Given the description of an element on the screen output the (x, y) to click on. 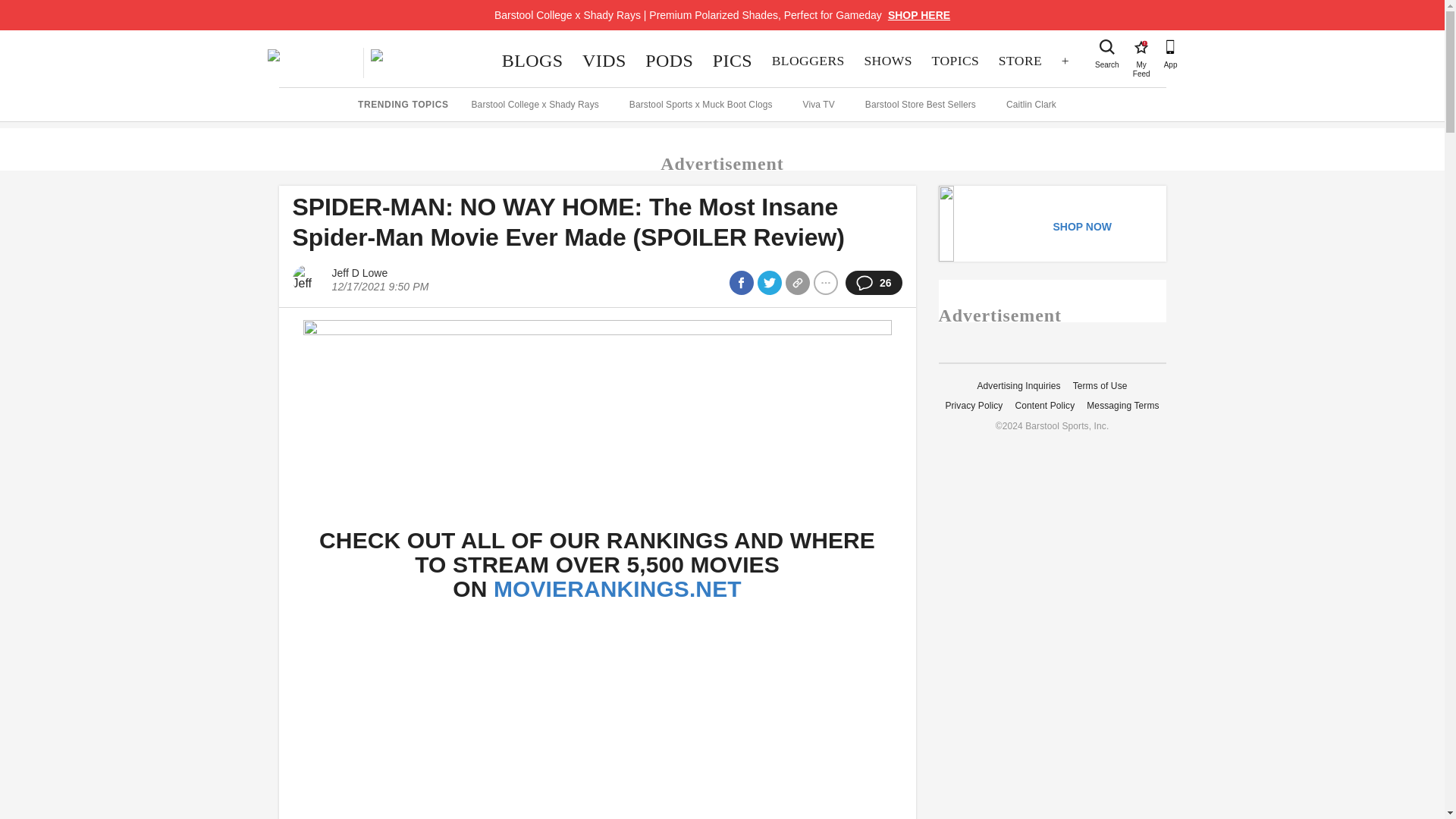
Search (1107, 46)
TOPICS (954, 60)
PICS (732, 60)
BLOGGERS (807, 60)
SHOWS (887, 60)
PODS (668, 60)
STORE (1019, 60)
BLOGS (532, 60)
VIDS (603, 60)
SHOP HERE (919, 15)
